Given the description of an element on the screen output the (x, y) to click on. 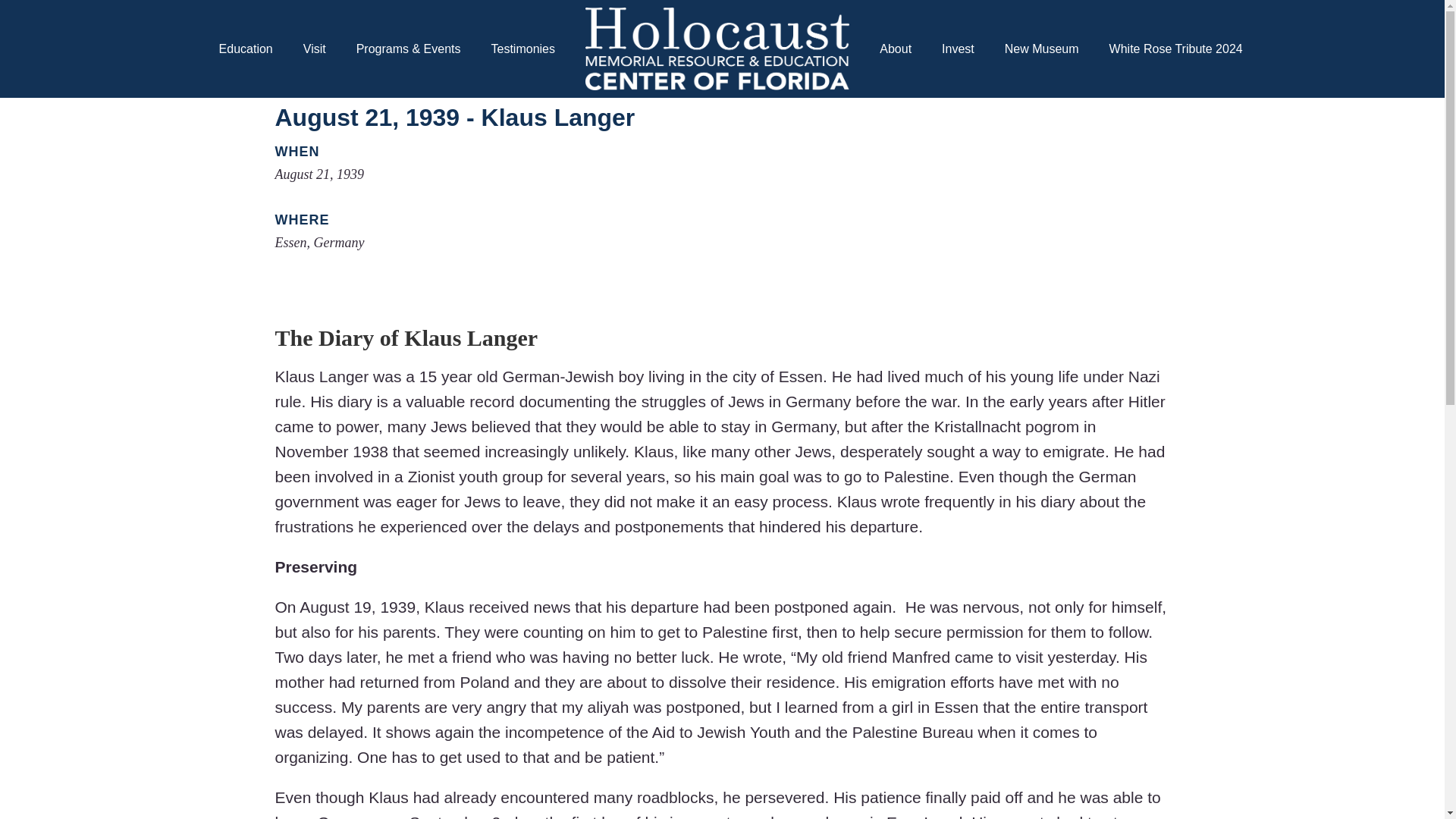
Visit (314, 48)
Testimonies (523, 48)
Education (245, 48)
